Given the description of an element on the screen output the (x, y) to click on. 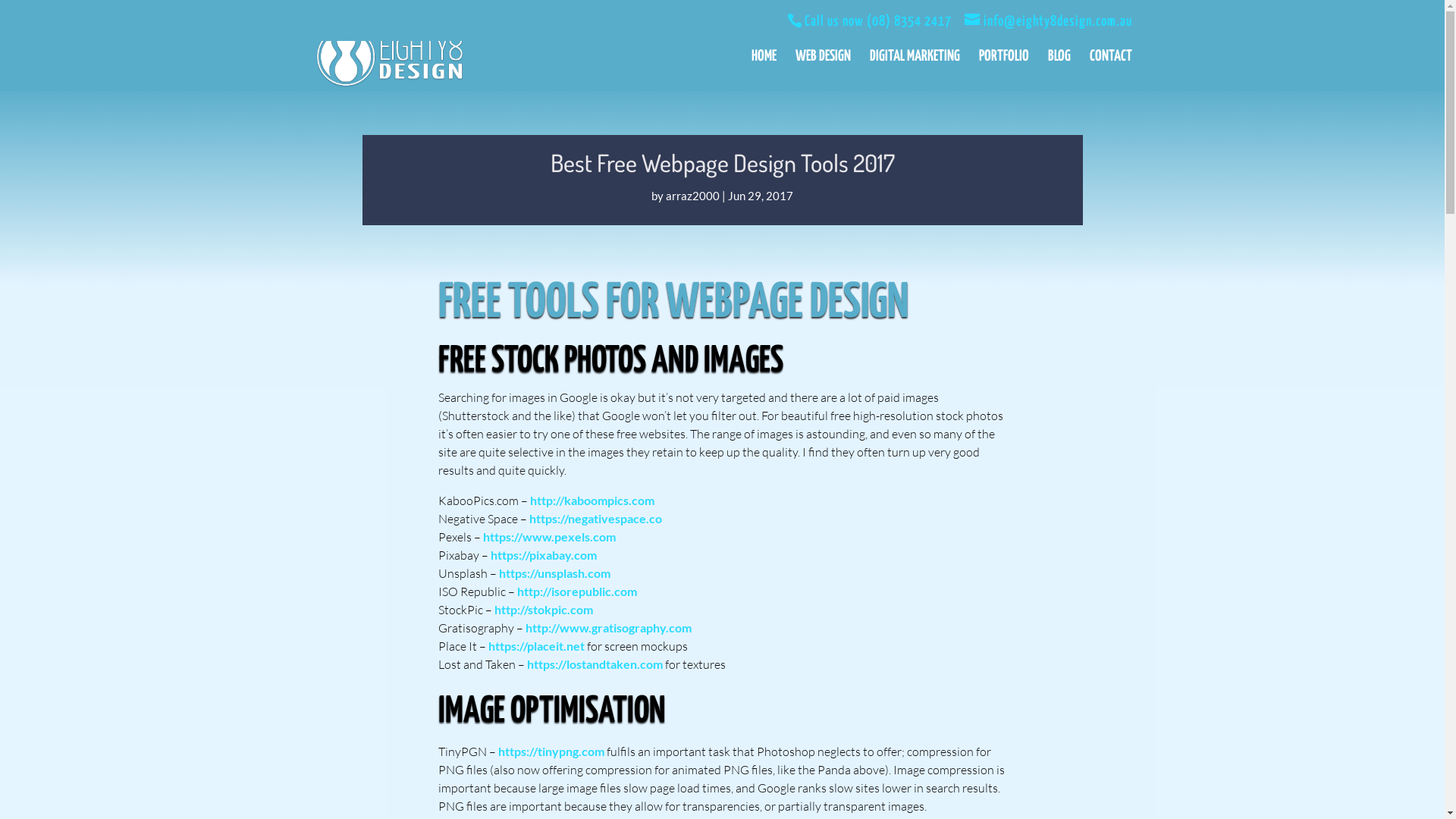
PORTFOLIO Element type: text (1003, 71)
https://www.pexels.com Element type: text (548, 536)
http://stokpic.com Element type: text (543, 609)
https://unsplash.com Element type: text (554, 572)
DIGITAL MARKETING Element type: text (914, 71)
https://tinypng.com Element type: text (550, 750)
https://pixabay.com Element type: text (542, 554)
http://isorepublic.com Element type: text (577, 590)
http://www.gratisography.com Element type: text (607, 627)
https://lostandtaken.com Element type: text (594, 663)
WEB DESIGN Element type: text (822, 71)
info@eighty8design.com.au Element type: text (1048, 21)
https://negativespace.co Element type: text (595, 518)
http://kaboompics.com Element type: text (591, 499)
HOME Element type: text (762, 71)
arraz2000 Element type: text (692, 194)
https://placeit.net Element type: text (536, 645)
CONTACT Element type: text (1109, 71)
BLOG Element type: text (1059, 71)
